Given the description of an element on the screen output the (x, y) to click on. 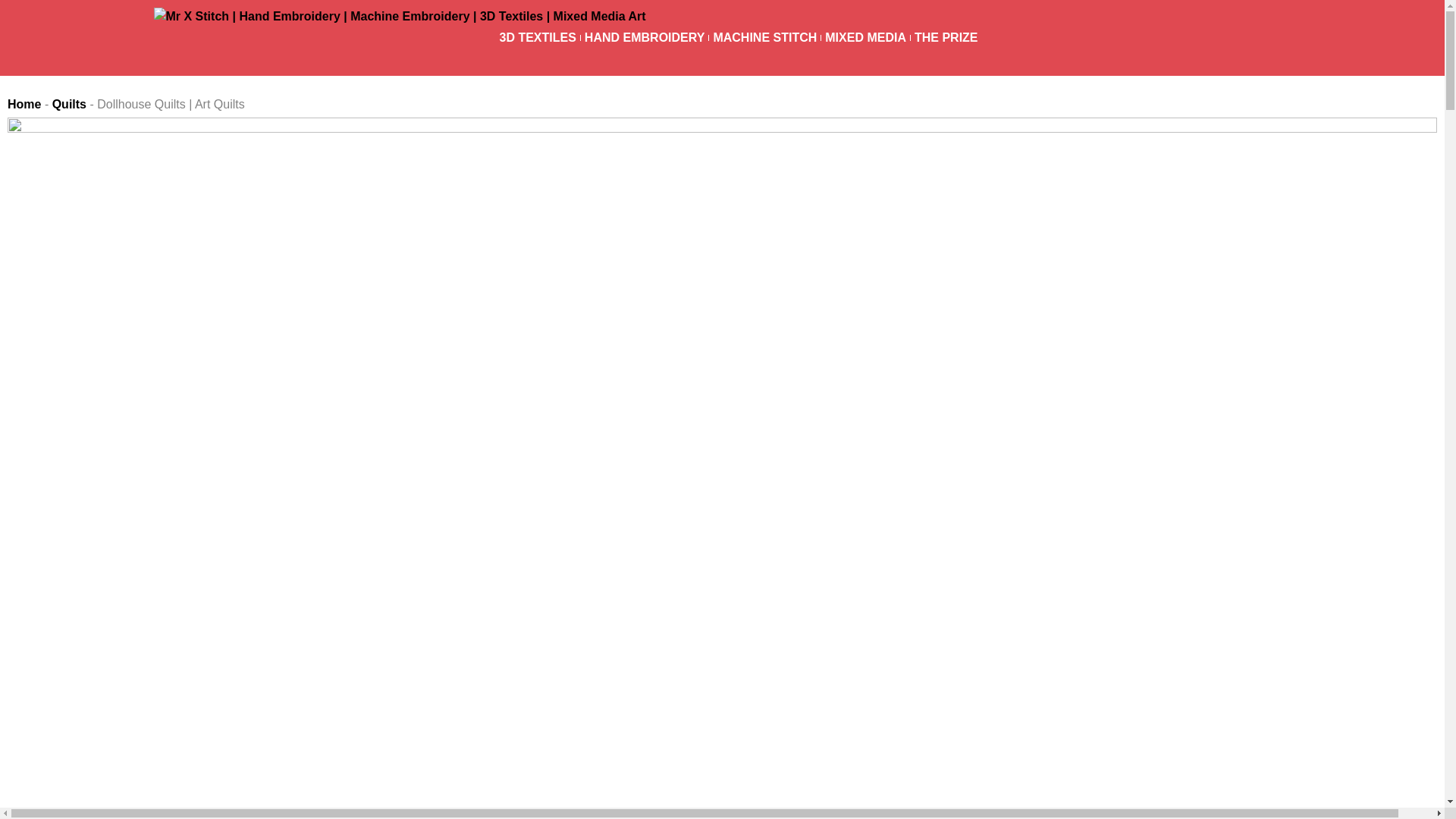
MACHINE STITCH (764, 37)
3D TEXTILES (537, 37)
Home (23, 103)
Quilts (68, 103)
HAND EMBROIDERY (644, 37)
MIXED MEDIA (865, 37)
THE PRIZE (946, 37)
